Given the description of an element on the screen output the (x, y) to click on. 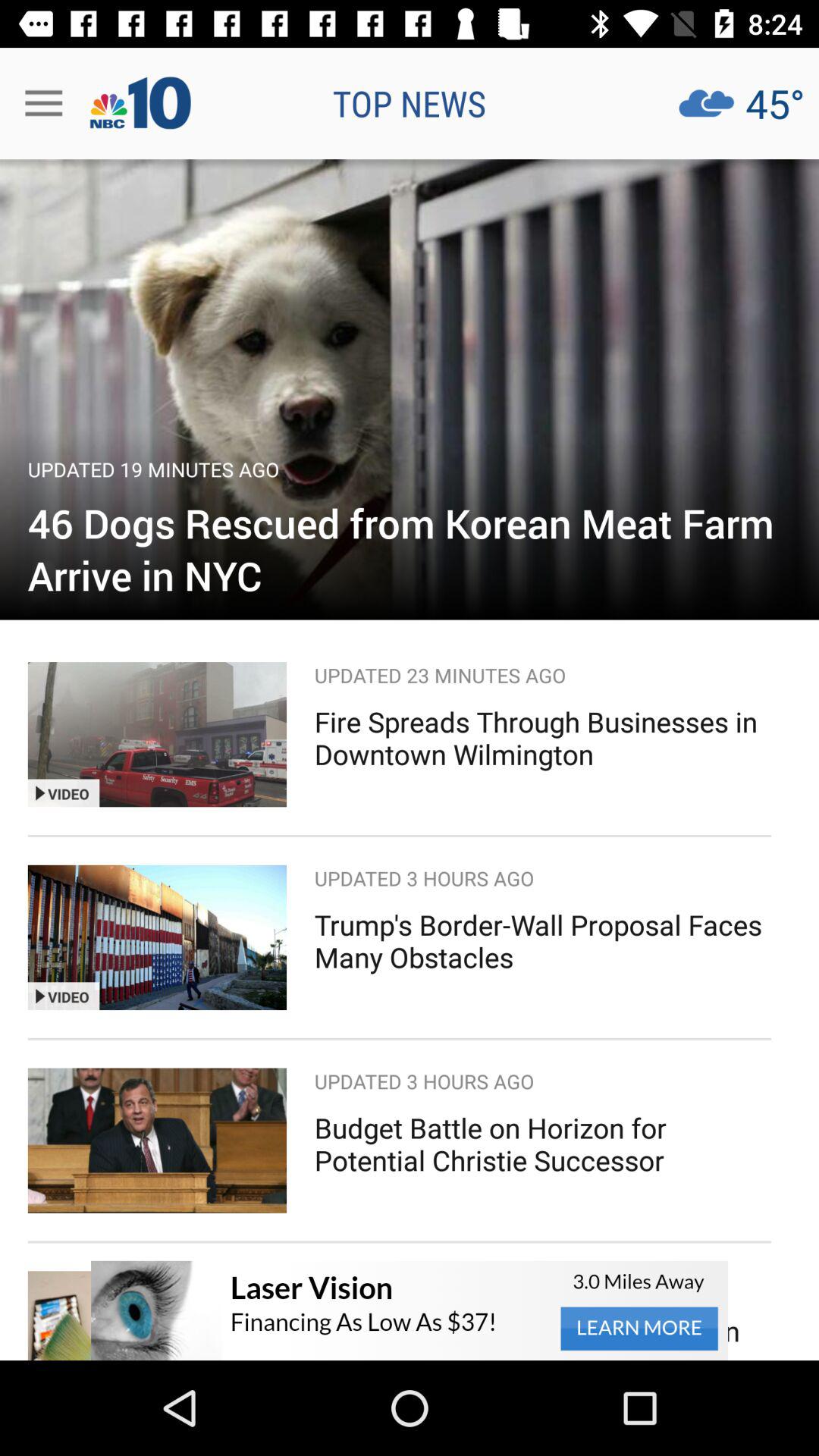
click on the video below dogs picture (156, 734)
click on white color button in first video (75, 792)
select the third video in the list from top left (156, 1140)
image left to the text trumps borderwall (156, 937)
